Given the description of an element on the screen output the (x, y) to click on. 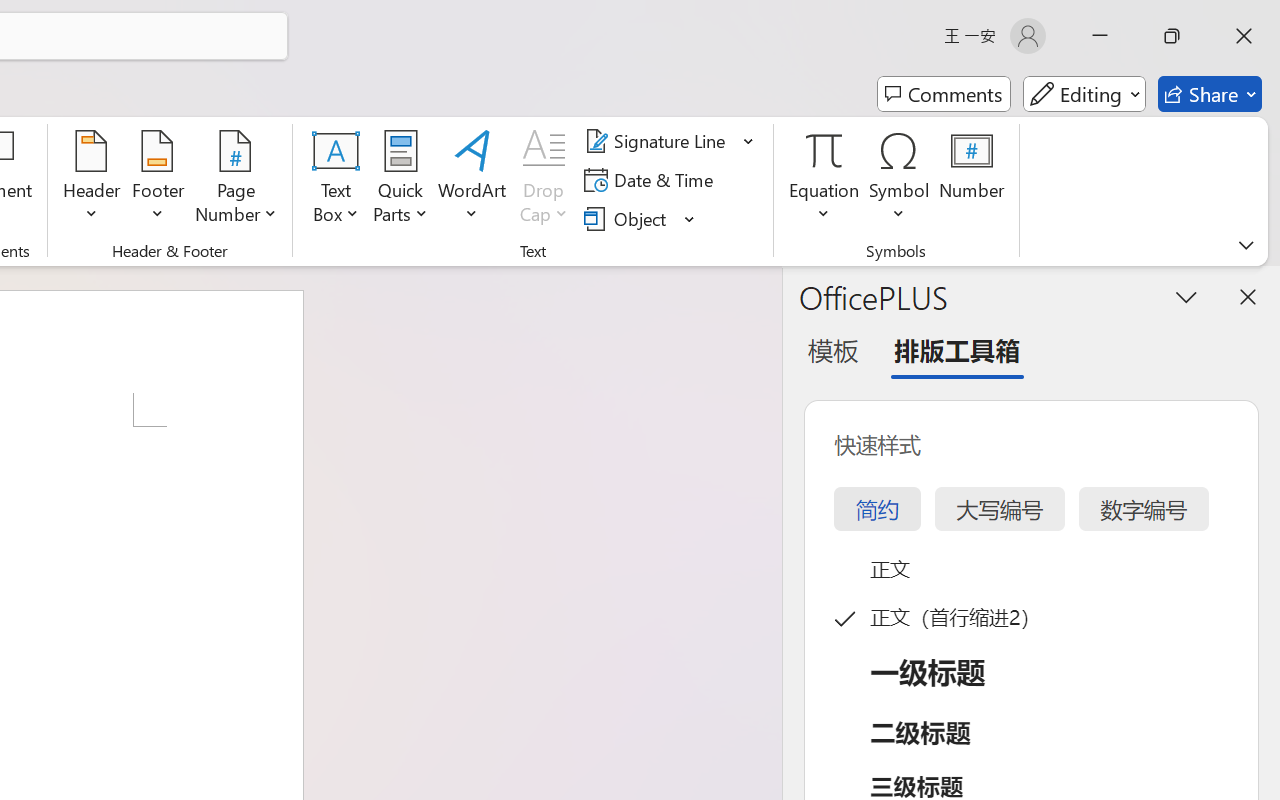
Footer (157, 179)
Quick Parts (400, 179)
Object... (640, 218)
